Given the description of an element on the screen output the (x, y) to click on. 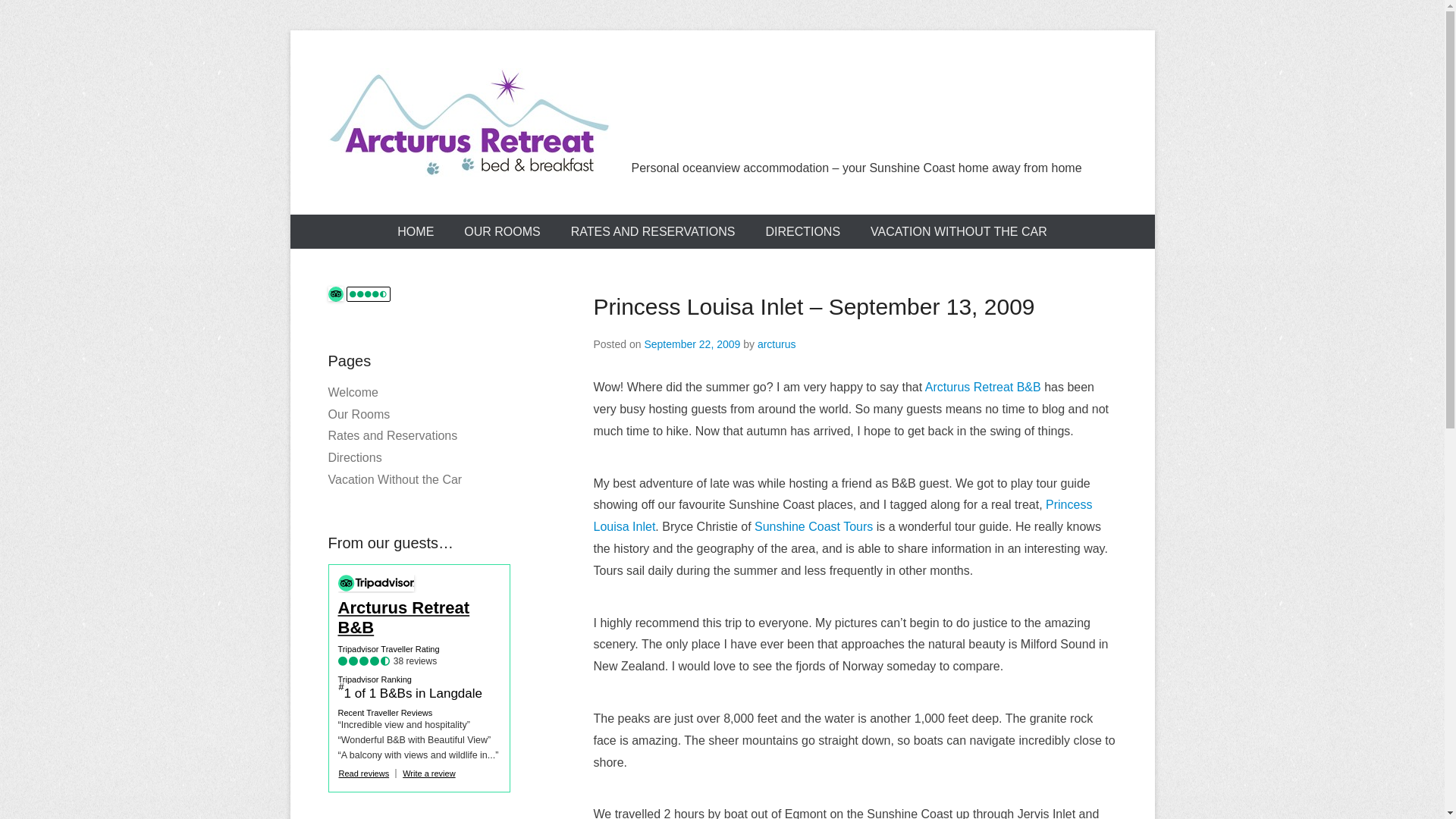
Louisa Inlet Element type: text (624, 526)
OUR ROOMS Element type: text (501, 231)
Write a review Element type: text (428, 773)
Arcturus Retreat B&B Element type: text (983, 386)
Vacation Without the Car Element type: text (394, 479)
Sunshine Coast Tours Element type: text (813, 526)
Princess Element type: text (1068, 504)
VACATION WITHOUT THE CAR Element type: text (958, 231)
September 22, 2009 Element type: text (691, 344)
Arcturus Retreat Bed & Breakfast Element type: hover (468, 122)
Read reviews Element type: text (363, 773)
Rates and Reservations Element type: text (392, 435)
Arcturus Retreat B&B Element type: text (419, 617)
Welcome Element type: text (352, 391)
arcturus Element type: text (776, 344)
Directions Element type: text (354, 457)
HOME Element type: text (415, 231)
RATES AND RESERVATIONS Element type: text (652, 231)
Our Rooms Element type: text (358, 413)
Read reviews on Tripadvisor  Element type: hover (334, 293)
Skip to content Element type: text (329, 224)
DIRECTIONS Element type: text (802, 231)
